Given the description of an element on the screen output the (x, y) to click on. 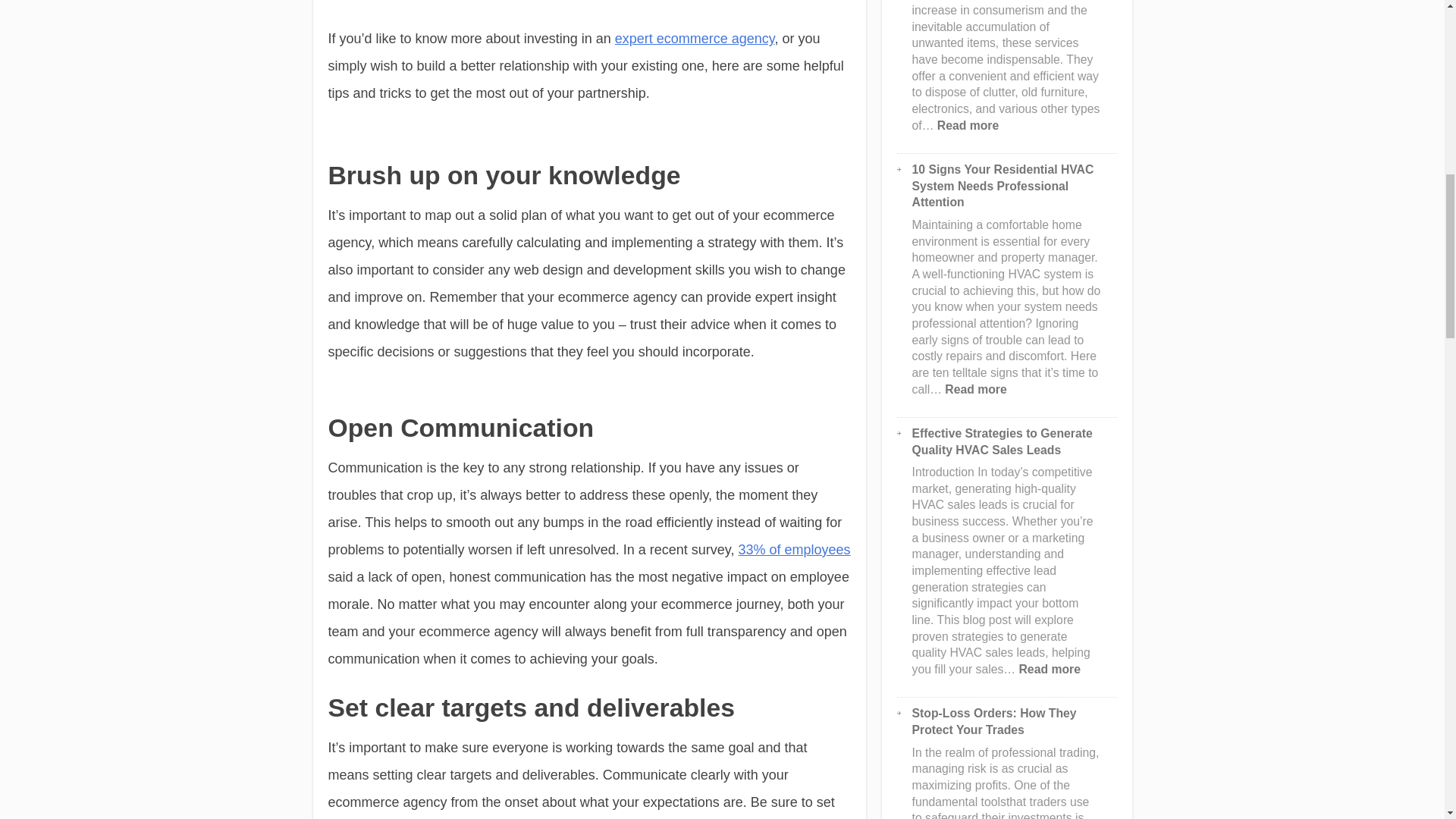
Stop-Loss Orders: How They Protect Your Trades (994, 721)
Effective Strategies to Generate Quality HVAC Sales Leads (1002, 441)
expert ecommerce agency (694, 38)
